Given the description of an element on the screen output the (x, y) to click on. 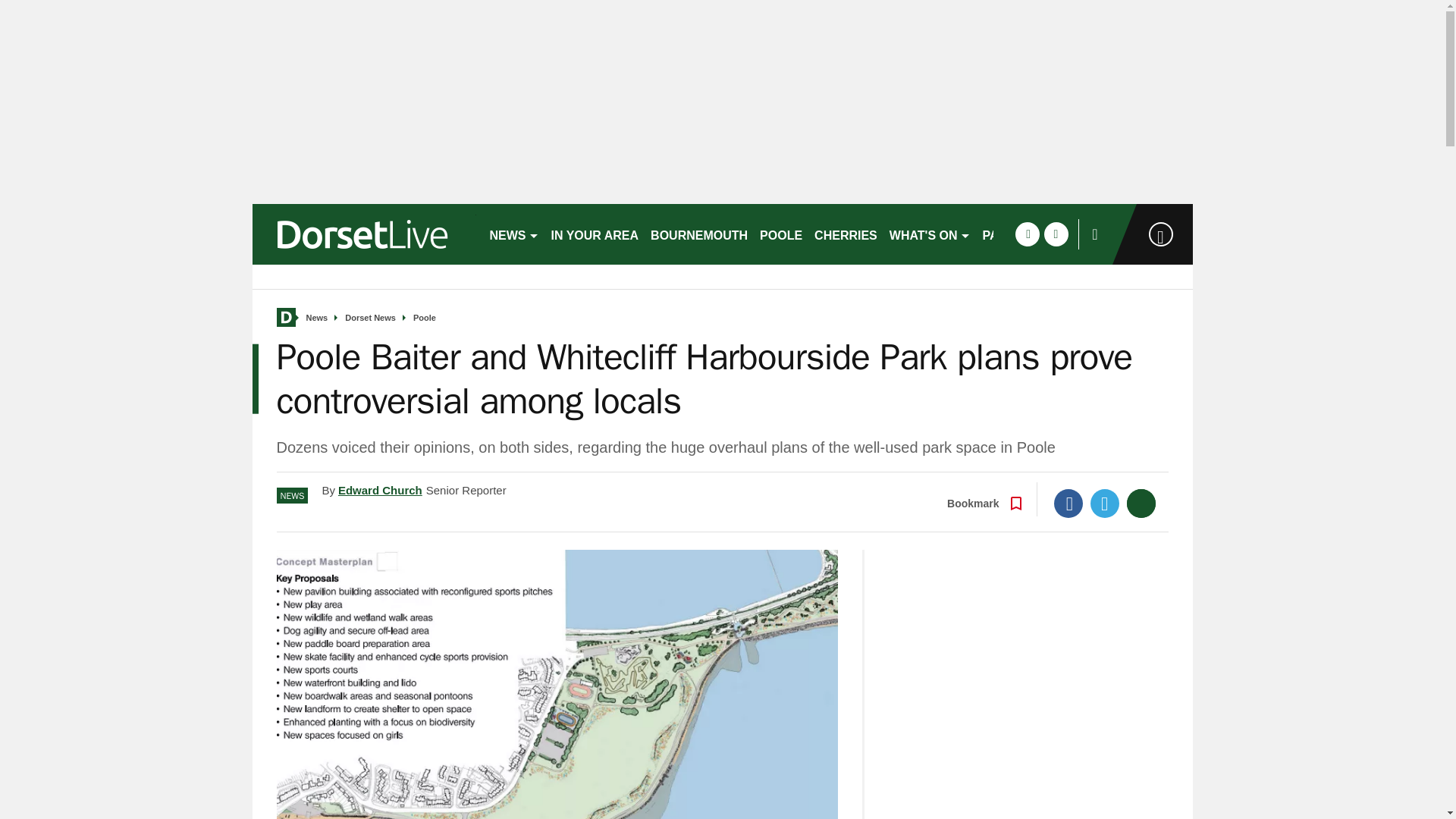
CHERRIES (845, 233)
Facebook (1068, 502)
Twitter (1104, 502)
facebook (1026, 233)
dorsetlive (363, 233)
WHAT'S ON (929, 233)
PARTNER STORIES (1039, 233)
twitter (1055, 233)
IN YOUR AREA (594, 233)
POOLE (781, 233)
NEWS (513, 233)
BOURNEMOUTH (699, 233)
